Given the description of an element on the screen output the (x, y) to click on. 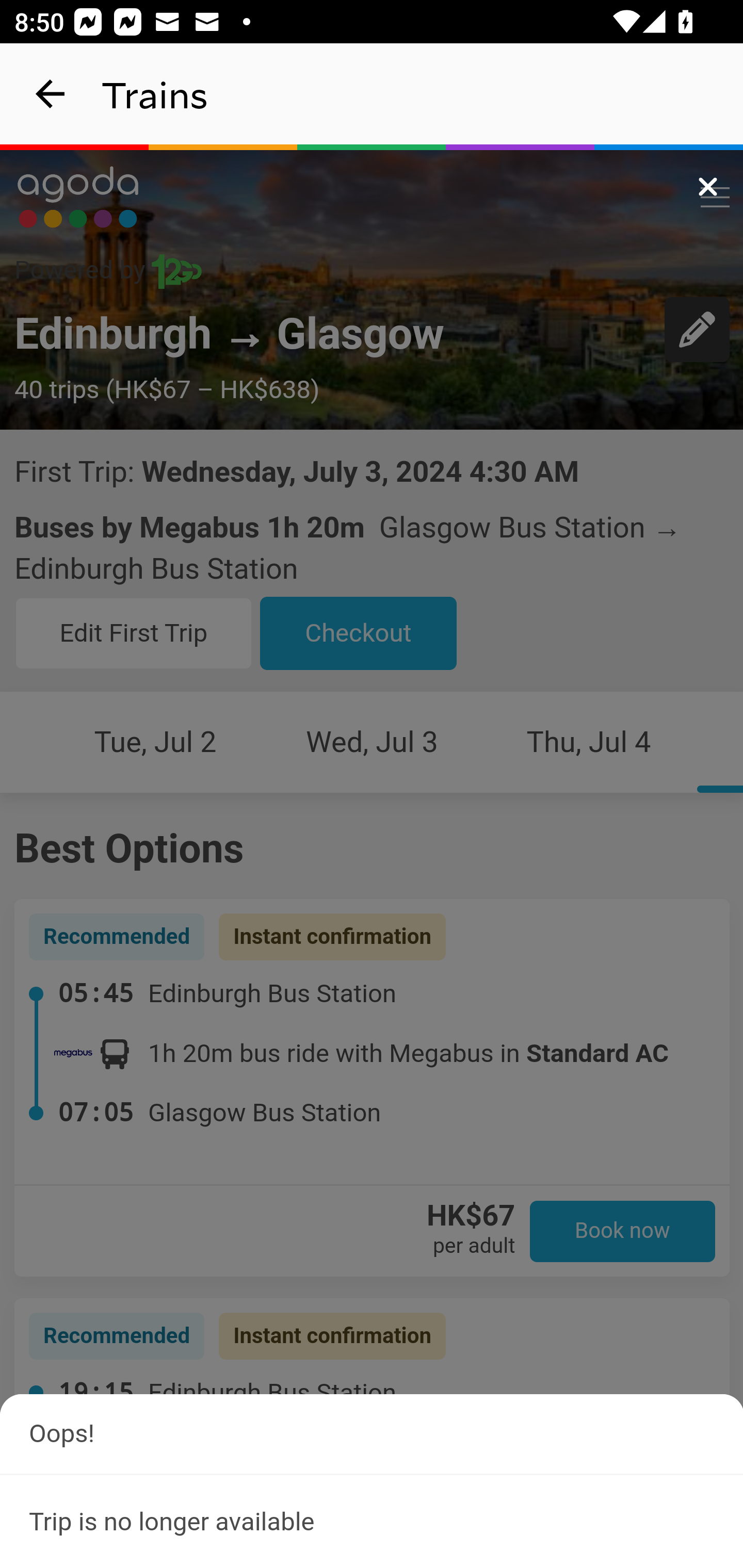
navigation_button (50, 93)
Oops! Trip is no longer available (371, 1480)
